Given the description of an element on the screen output the (x, y) to click on. 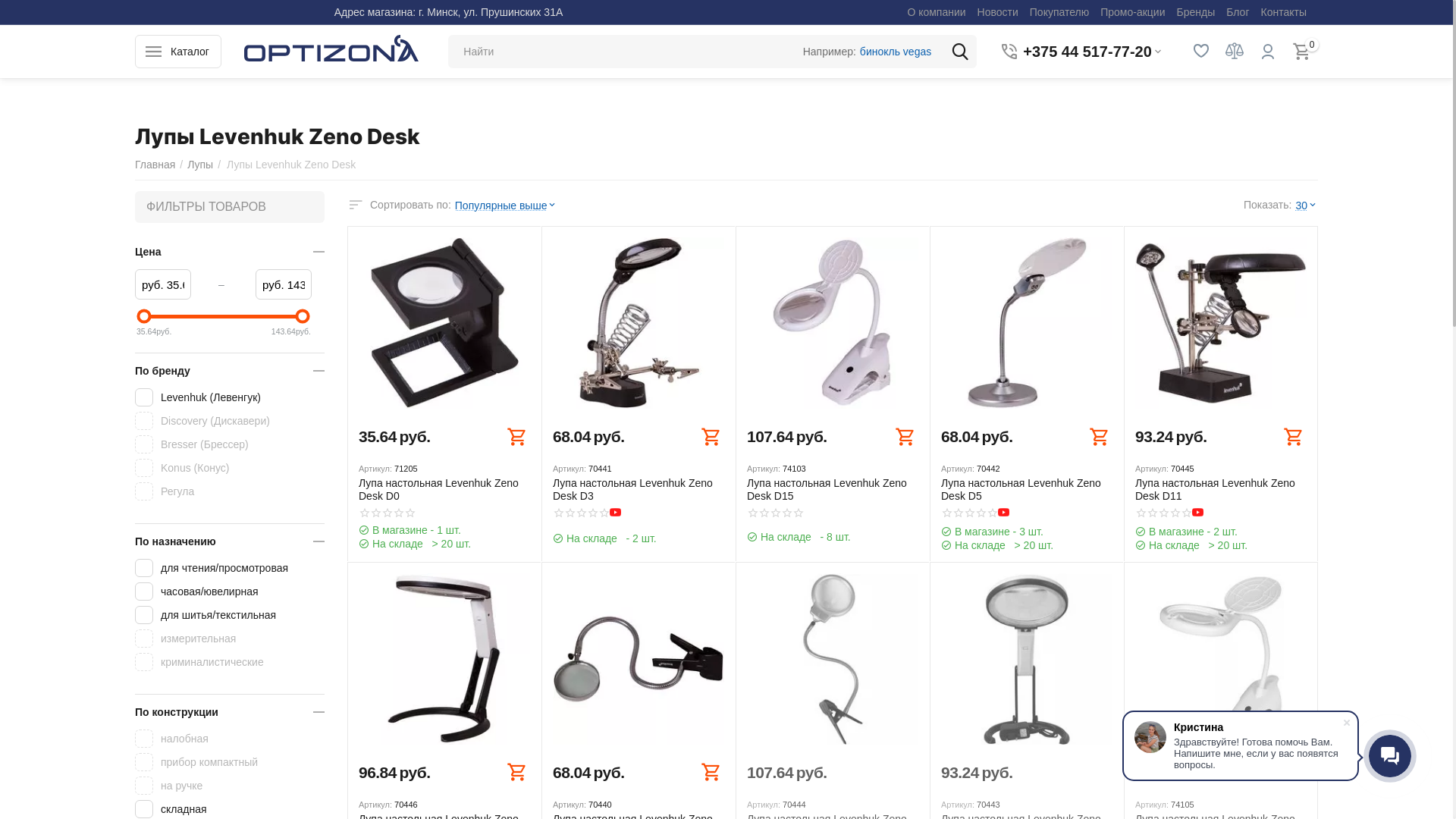
+375 44 517-77-20 Element type: text (1086, 51)
0 Element type: text (1301, 51)
+375 44 517-77-20 Element type: text (1086, 51)
30 Element type: text (1306, 204)
